Given the description of an element on the screen output the (x, y) to click on. 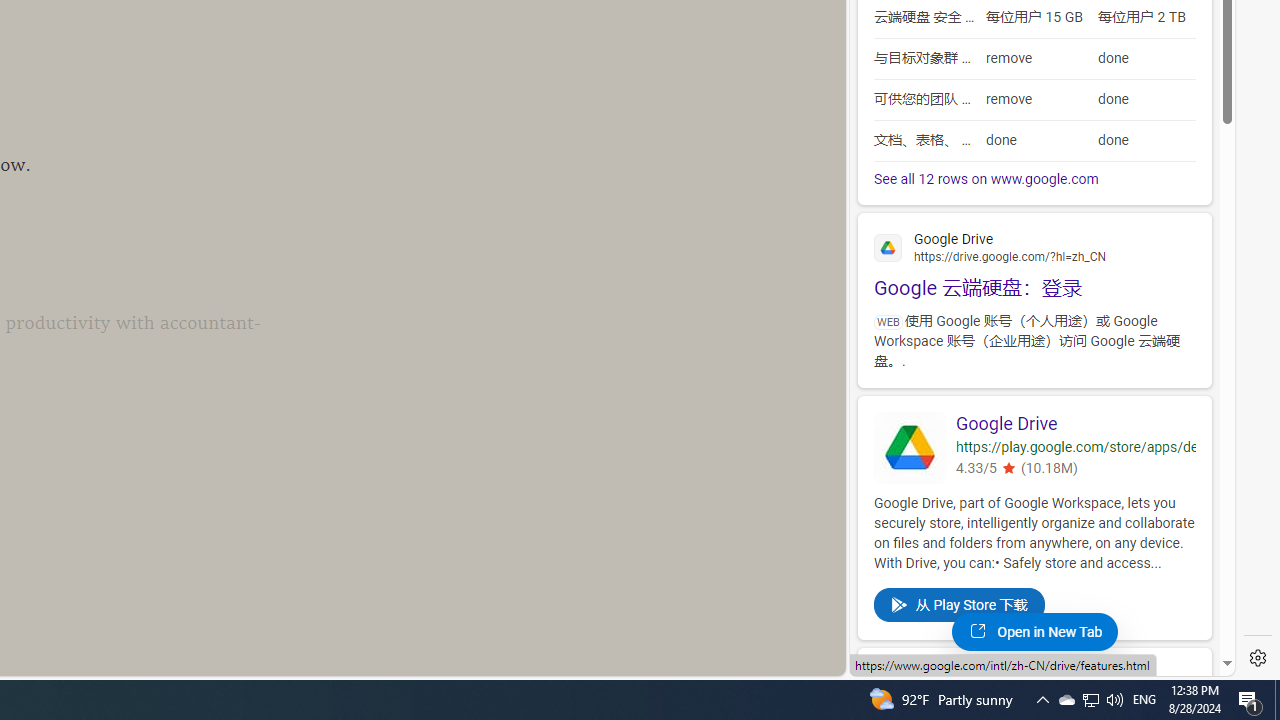
Google Drive (1075, 423)
Google (1034, 681)
4.334164619445801 (1008, 469)
Google Drive (1075, 424)
Google Drive (909, 447)
Global web icon (888, 683)
4.33/5(10.18M) (1075, 470)
